Given the description of an element on the screen output the (x, y) to click on. 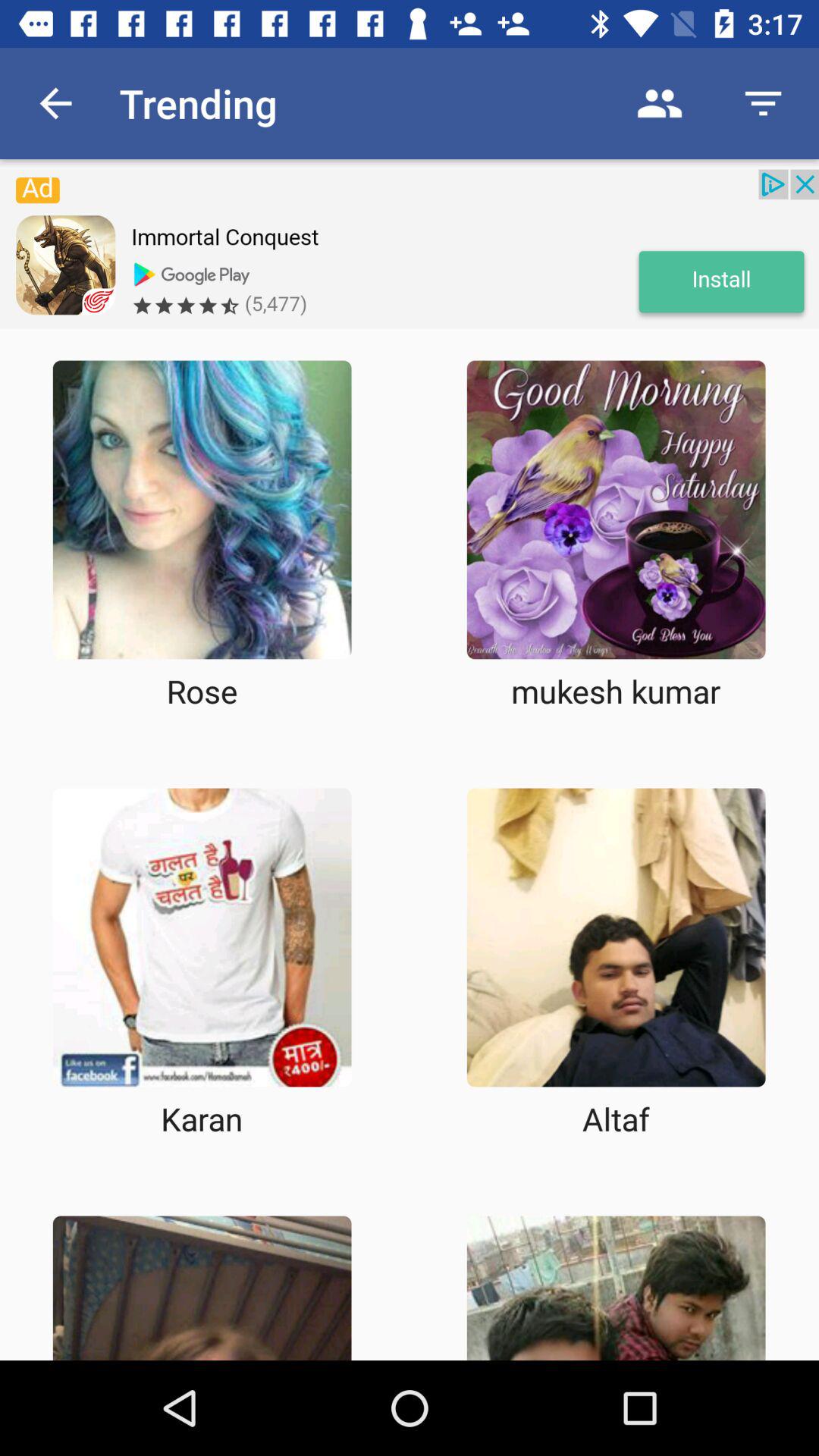
other adds we close it or install it (409, 248)
